Given the description of an element on the screen output the (x, y) to click on. 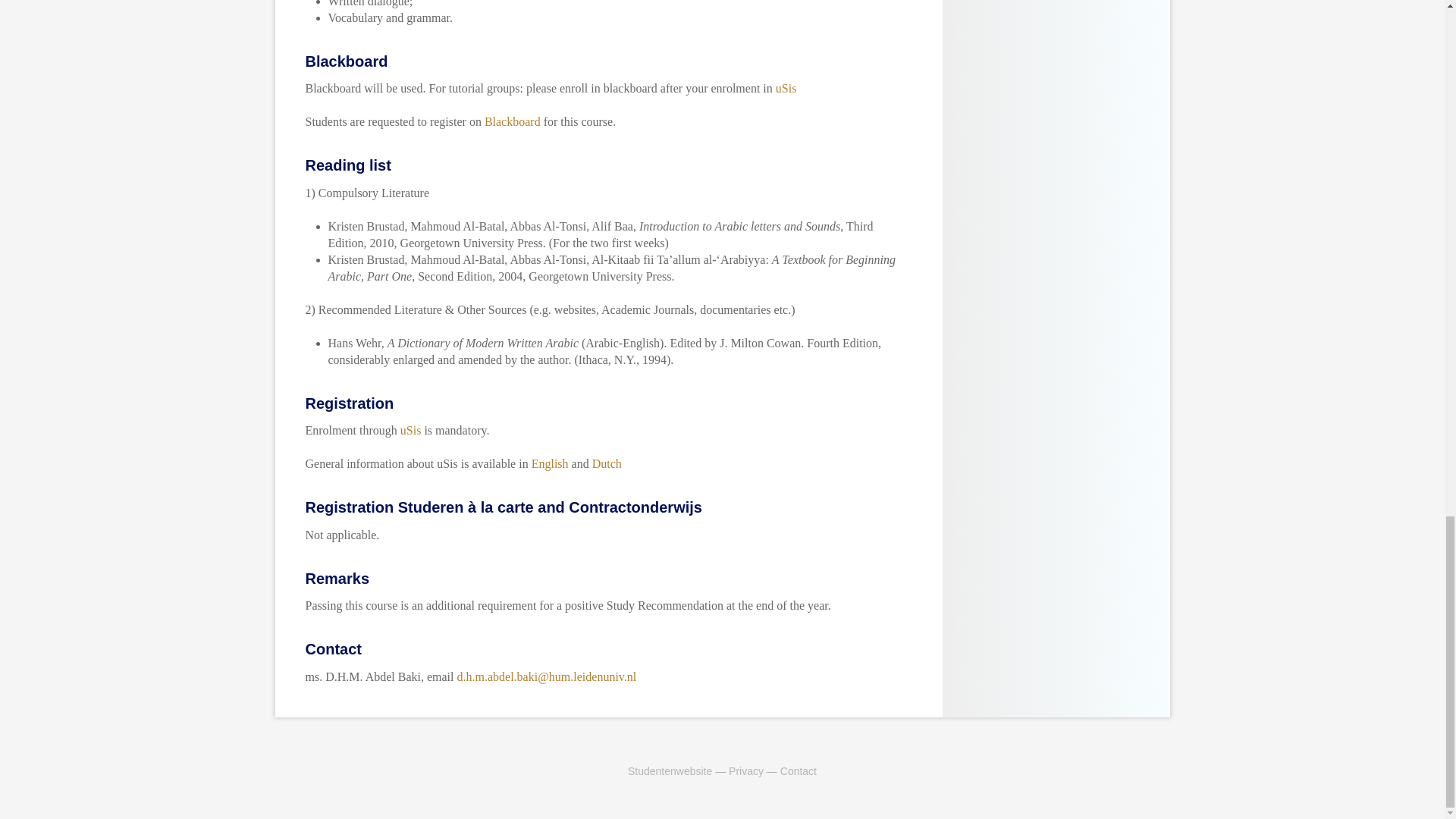
Privacy (745, 770)
uSis (786, 88)
English (550, 463)
Dutch (606, 463)
Contact (798, 770)
Blackboard (512, 121)
Studentenwebsite (669, 770)
uSis (411, 430)
